Given the description of an element on the screen output the (x, y) to click on. 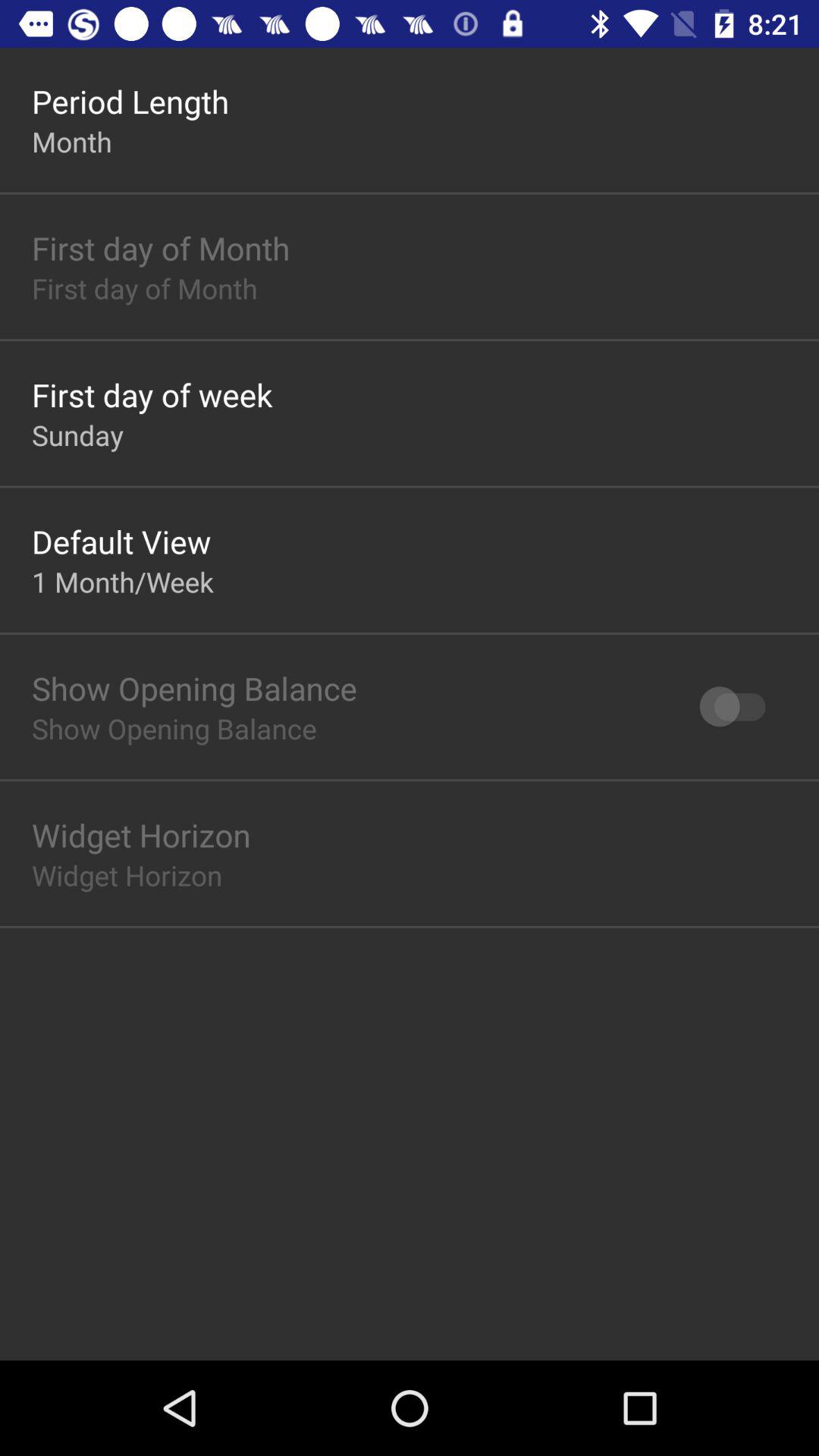
turn off item above the month app (130, 100)
